Given the description of an element on the screen output the (x, y) to click on. 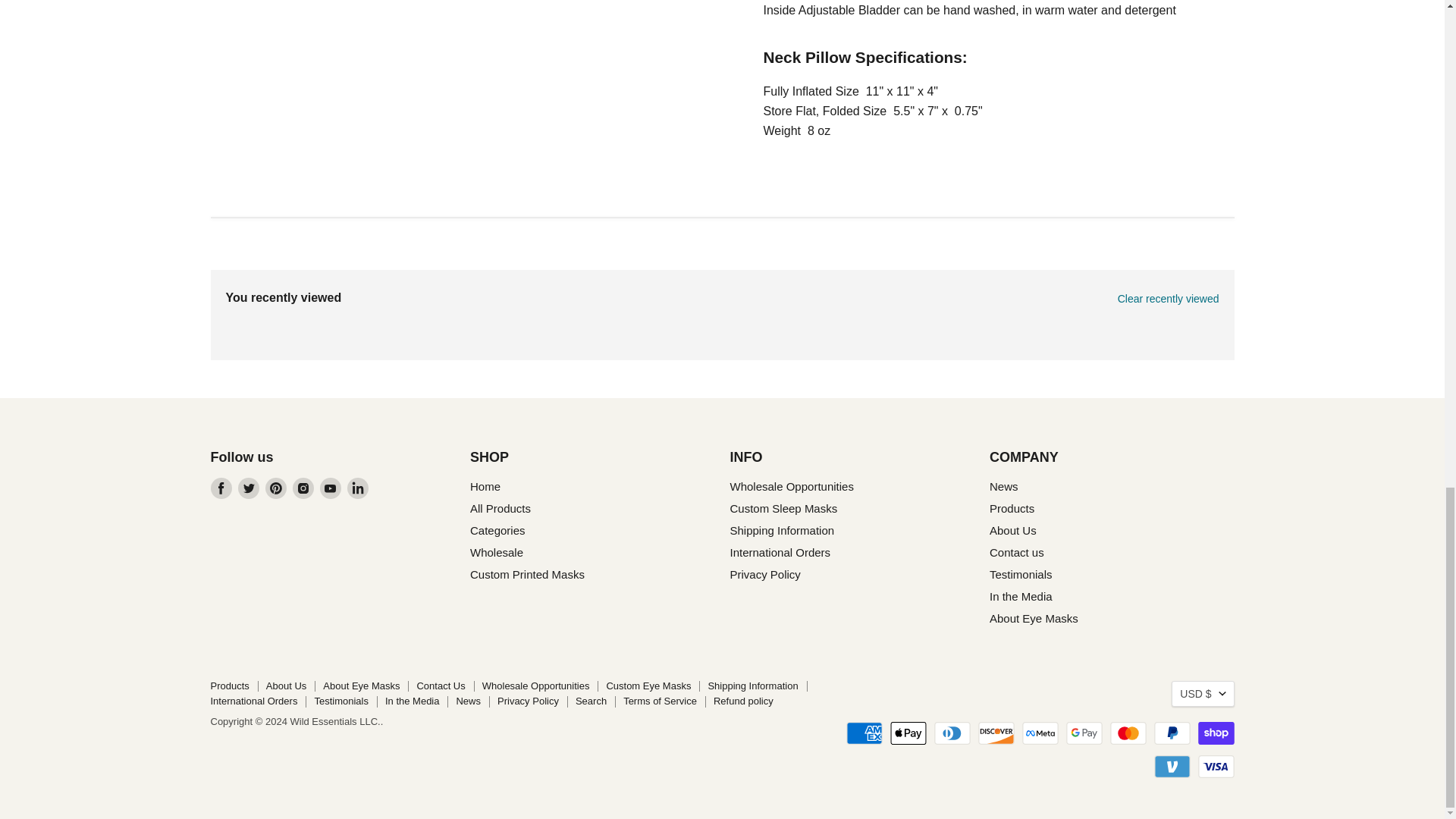
Youtube (330, 487)
Facebook (221, 487)
Pinterest (275, 487)
LinkedIn (357, 487)
Instagram (303, 487)
Twitter (248, 487)
